Given the description of an element on the screen output the (x, y) to click on. 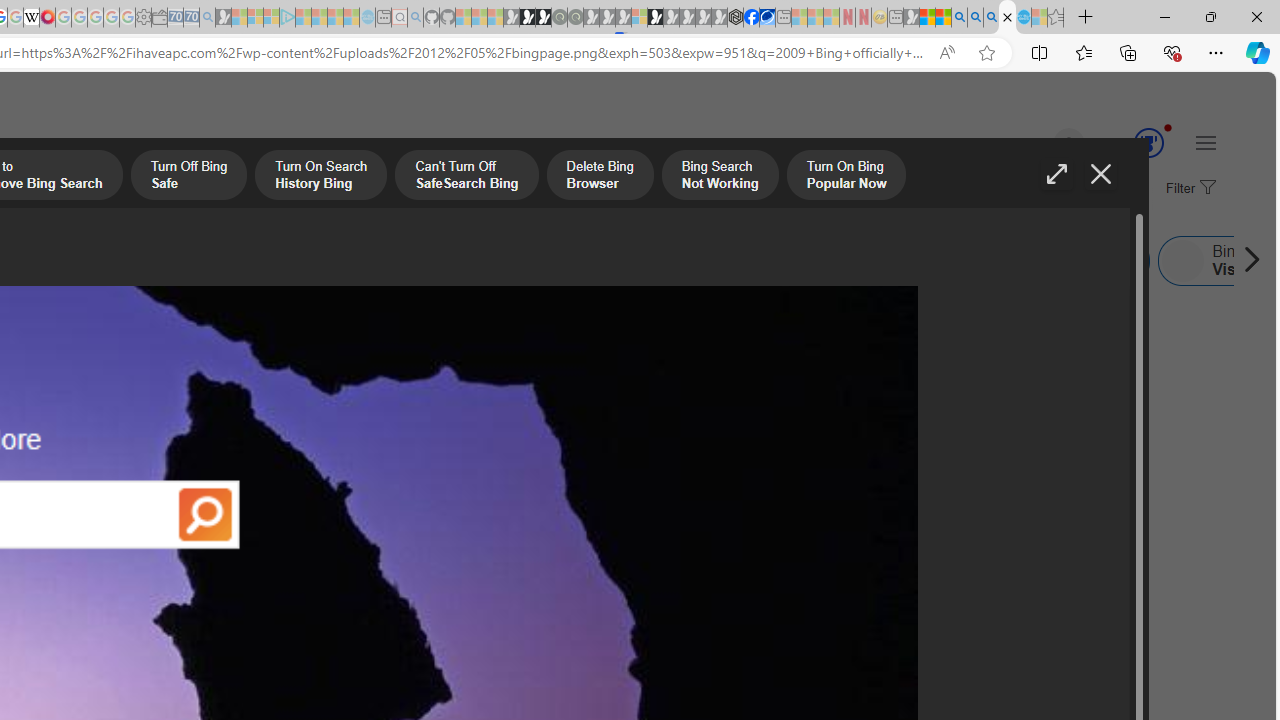
Microsoft Rewards 84 (1130, 143)
Search for: Windows Live Search (1069, 260)
Technology History timeline | Timetoast timelinesSave (189, 417)
Technology History timeline | Timetoast timelines (185, 508)
Delete Bing Browser (600, 177)
Settings and quick links (1205, 142)
Microsoft Start - Sleeping (335, 17)
Filter (1188, 189)
